Given the description of an element on the screen output the (x, y) to click on. 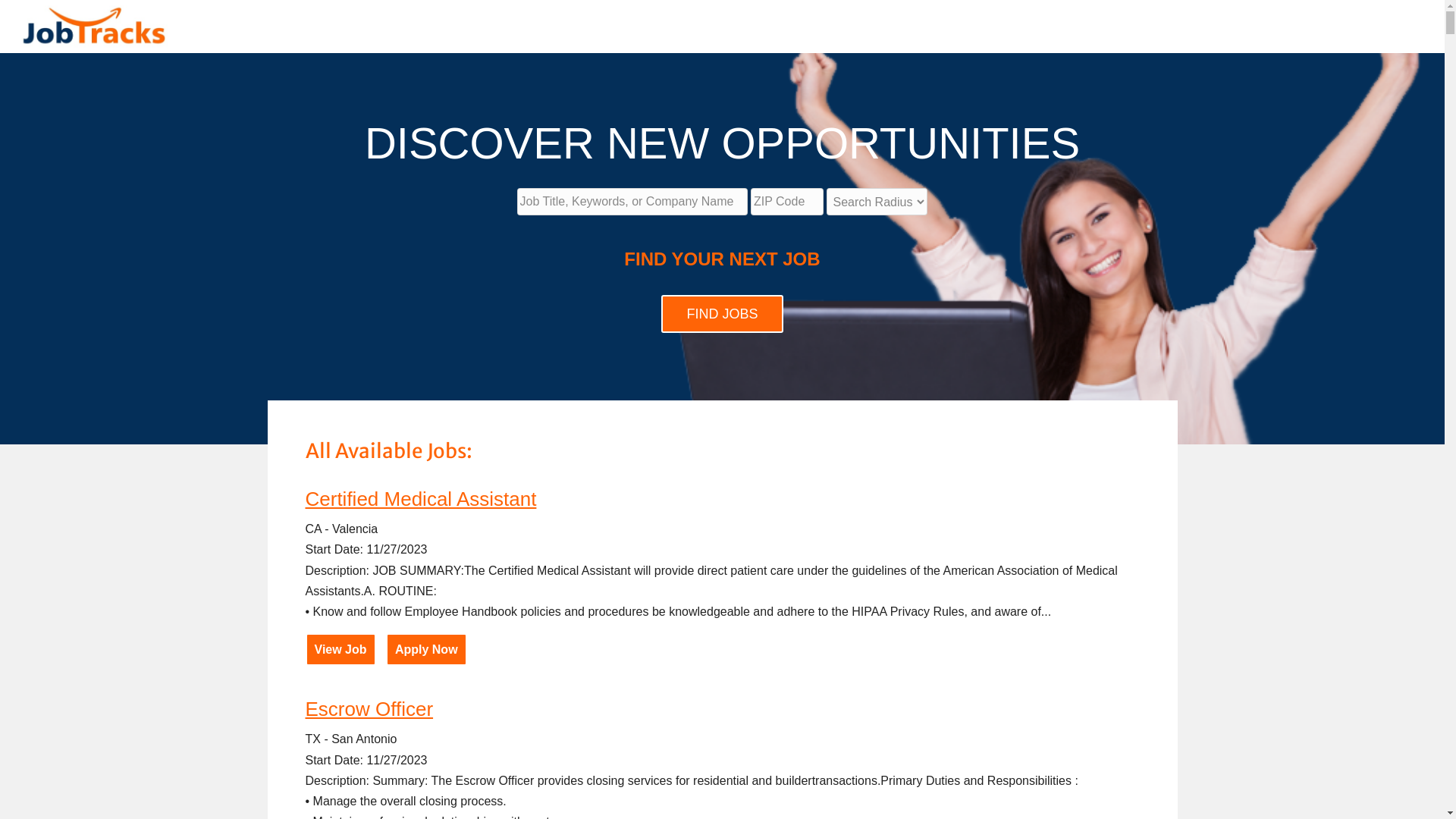
Apply Now Element type: text (426, 649)
JobTracks Element type: hover (91, 26)
Escrow Officer Element type: text (368, 708)
Certified Medical Assistant Element type: text (420, 498)
Find Jobs Element type: text (722, 313)
View Job Element type: text (339, 649)
